Given the description of an element on the screen output the (x, y) to click on. 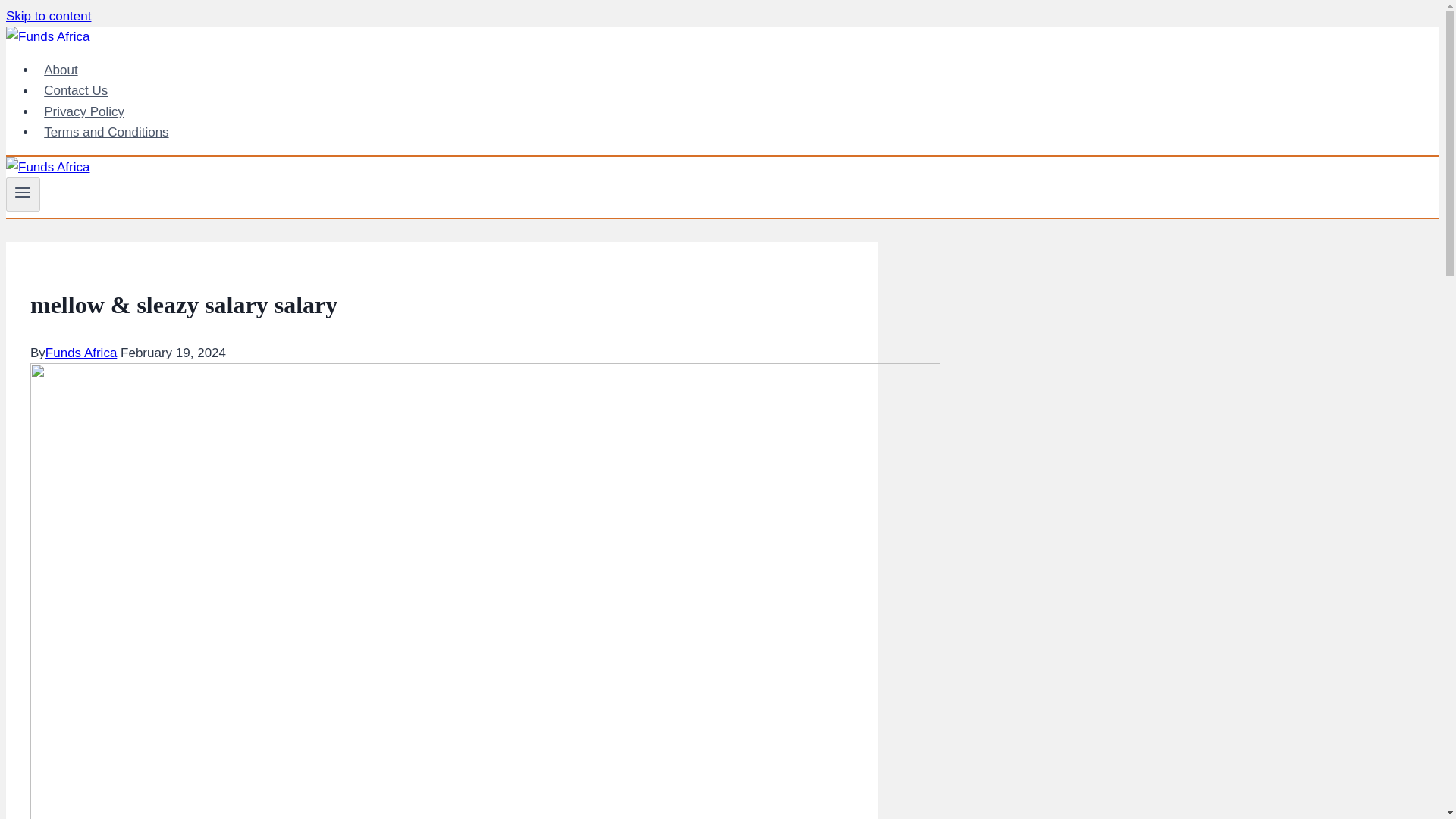
Skip to content (47, 16)
Funds Africa (81, 352)
About (60, 70)
Terms and Conditions (106, 132)
Toggle Menu (22, 192)
Skip to content (47, 16)
Contact Us (75, 90)
Toggle Menu (22, 193)
Privacy Policy (84, 111)
